Given the description of an element on the screen output the (x, y) to click on. 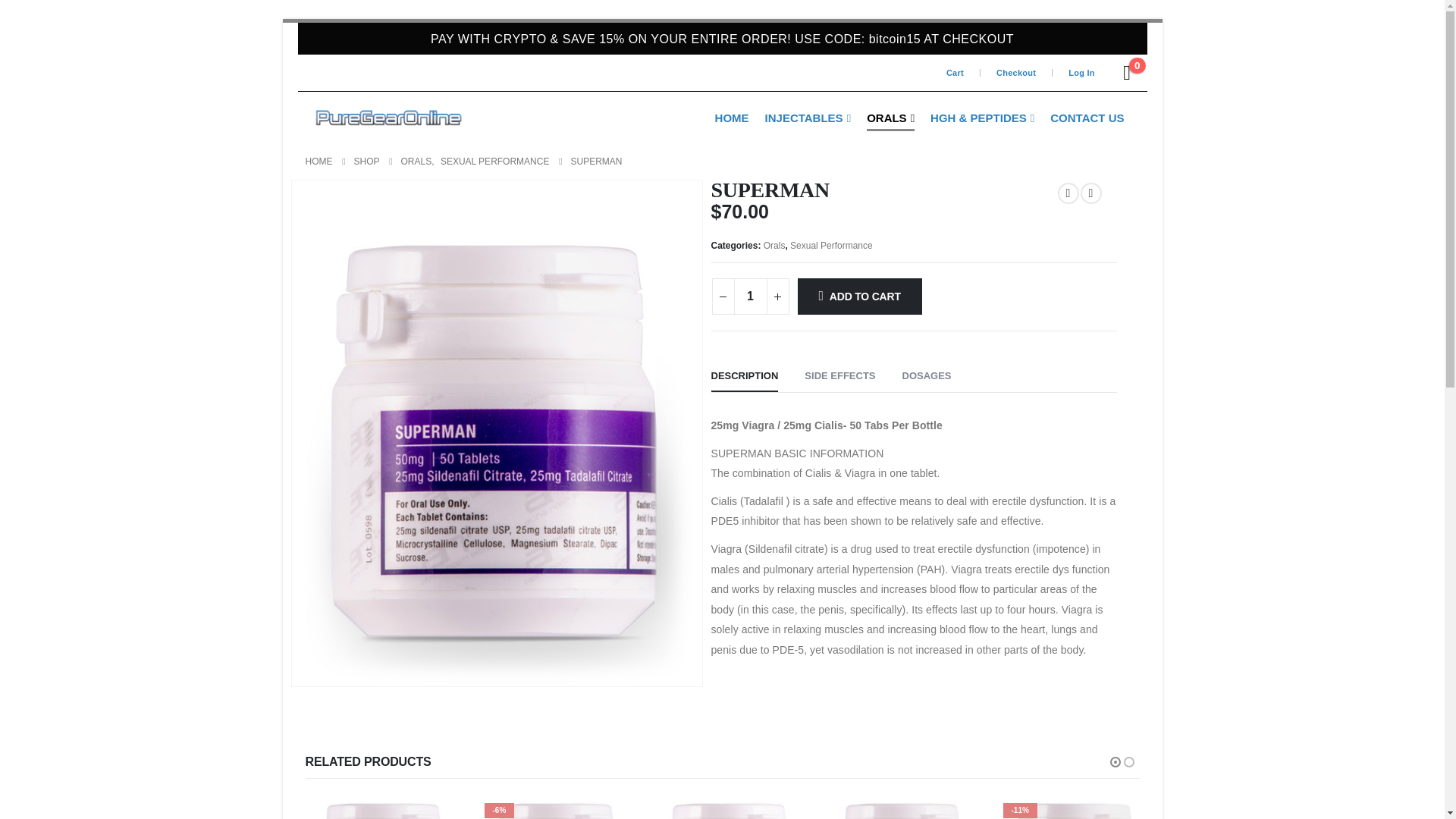
Pure Gear Online - Top Quality Canadian Steroids (388, 117)
Checkout (1015, 72)
HOME (732, 117)
INJECTABLES (808, 117)
Go to Home Page (317, 161)
ORALS (890, 117)
Cart (960, 72)
1 (750, 296)
Log In (1081, 72)
